Given the description of an element on the screen output the (x, y) to click on. 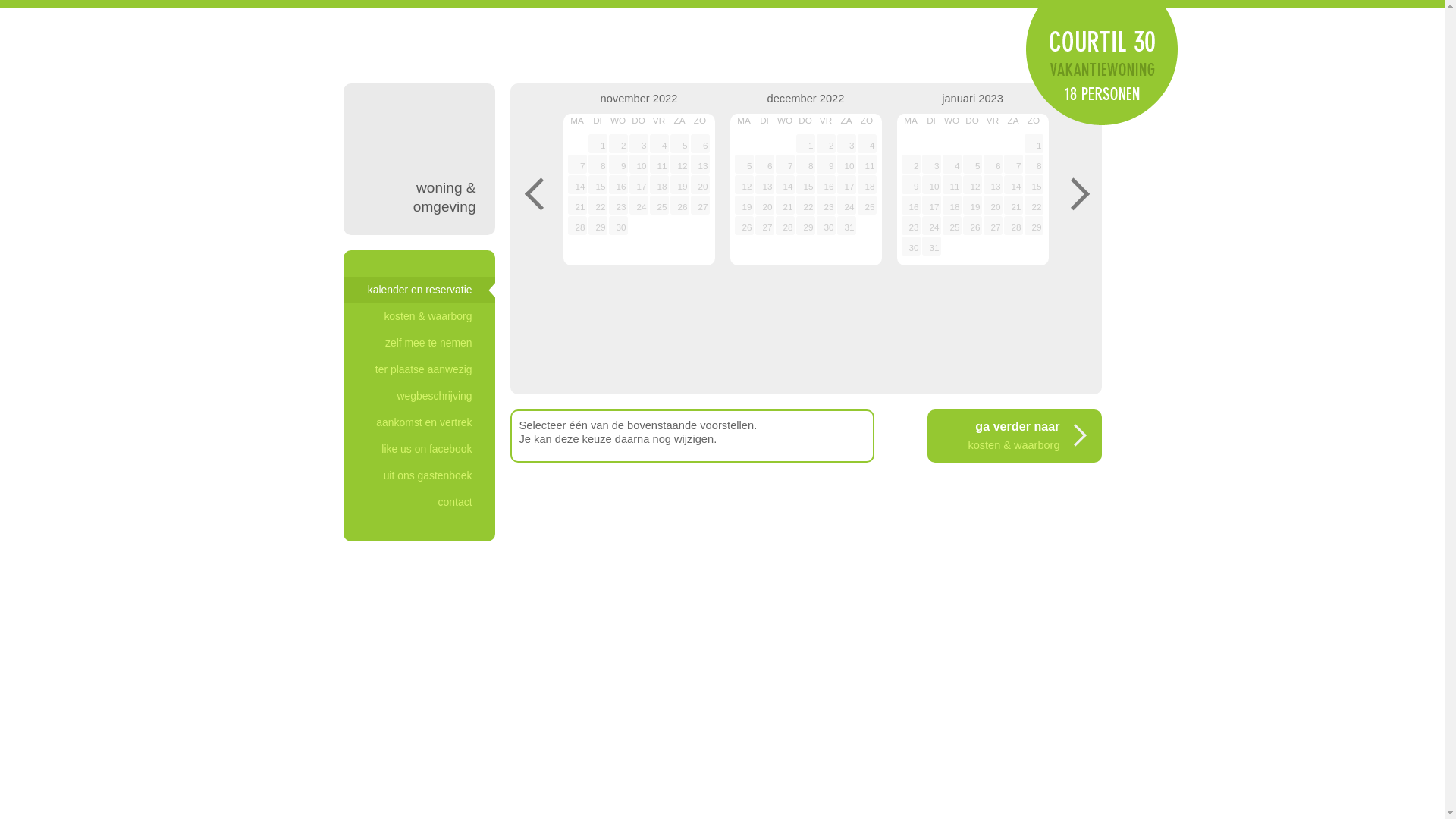
kalender en reservatie Element type: text (418, 289)
woning &
omgeving Element type: text (418, 159)
like us on facebook Element type: text (418, 448)
Volgende Element type: text (1078, 193)
wegbeschrijving Element type: text (418, 395)
Vorige Element type: text (532, 193)
aankomst en vertrek Element type: text (418, 422)
kosten & waarborg Element type: text (418, 316)
zelf mee te nemen Element type: text (418, 342)
contact Element type: text (418, 501)
ter plaatse aanwezig Element type: text (418, 369)
ga verder naar
kosten & waarborg Element type: text (1013, 435)
uit ons gastenboek Element type: text (418, 475)
